Given the description of an element on the screen output the (x, y) to click on. 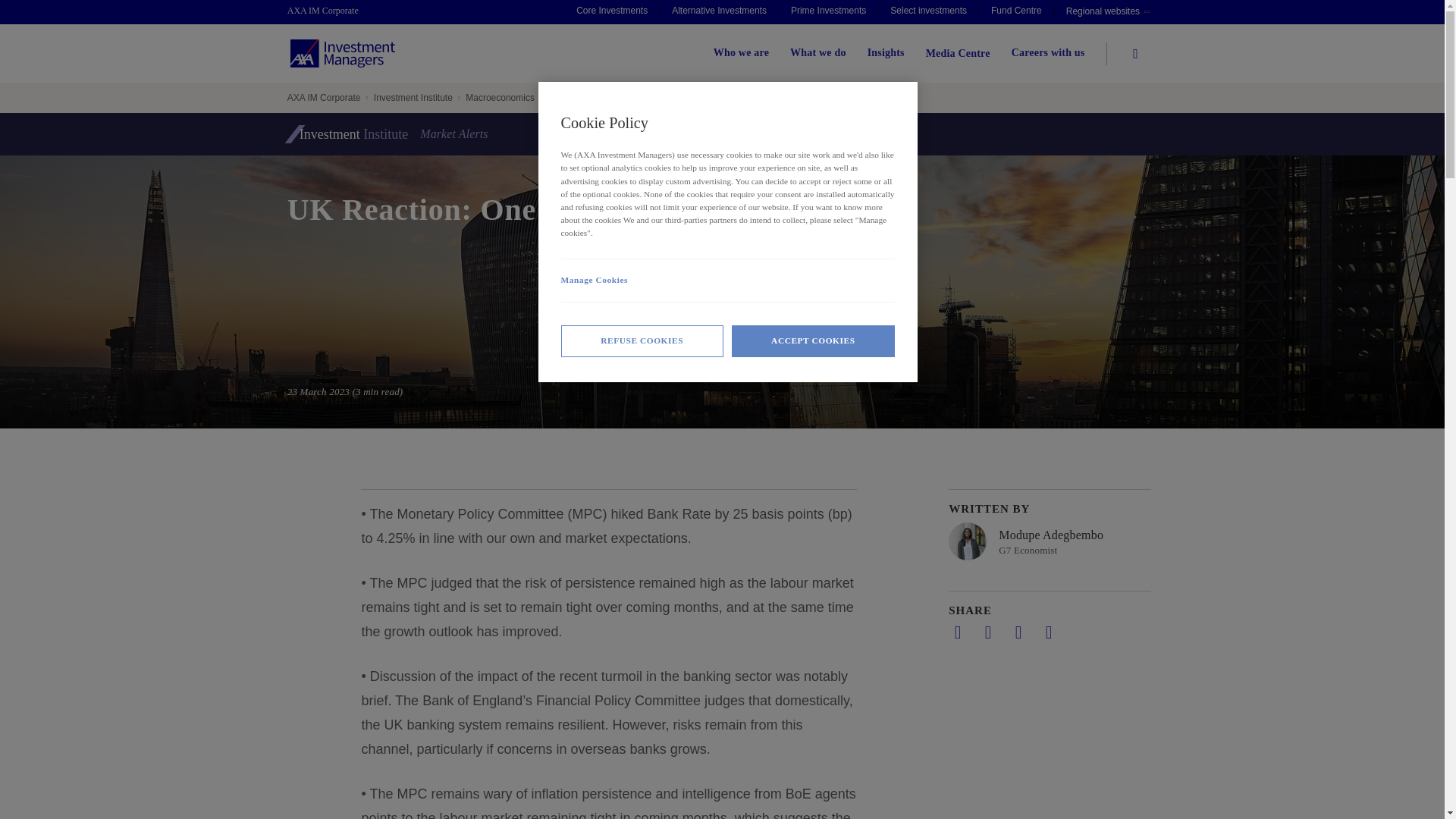
AXA IM Corporate (330, 10)
Select investments (927, 12)
Alternative Investments (718, 12)
Access the Fund Centre - New window (1016, 12)
Prime Investments (827, 12)
Regional websites (1107, 12)
Who we are (740, 53)
Visit Alternative Investments website - New window (718, 12)
Fund Centre (1016, 12)
Regional websites (1107, 12)
